Given the description of an element on the screen output the (x, y) to click on. 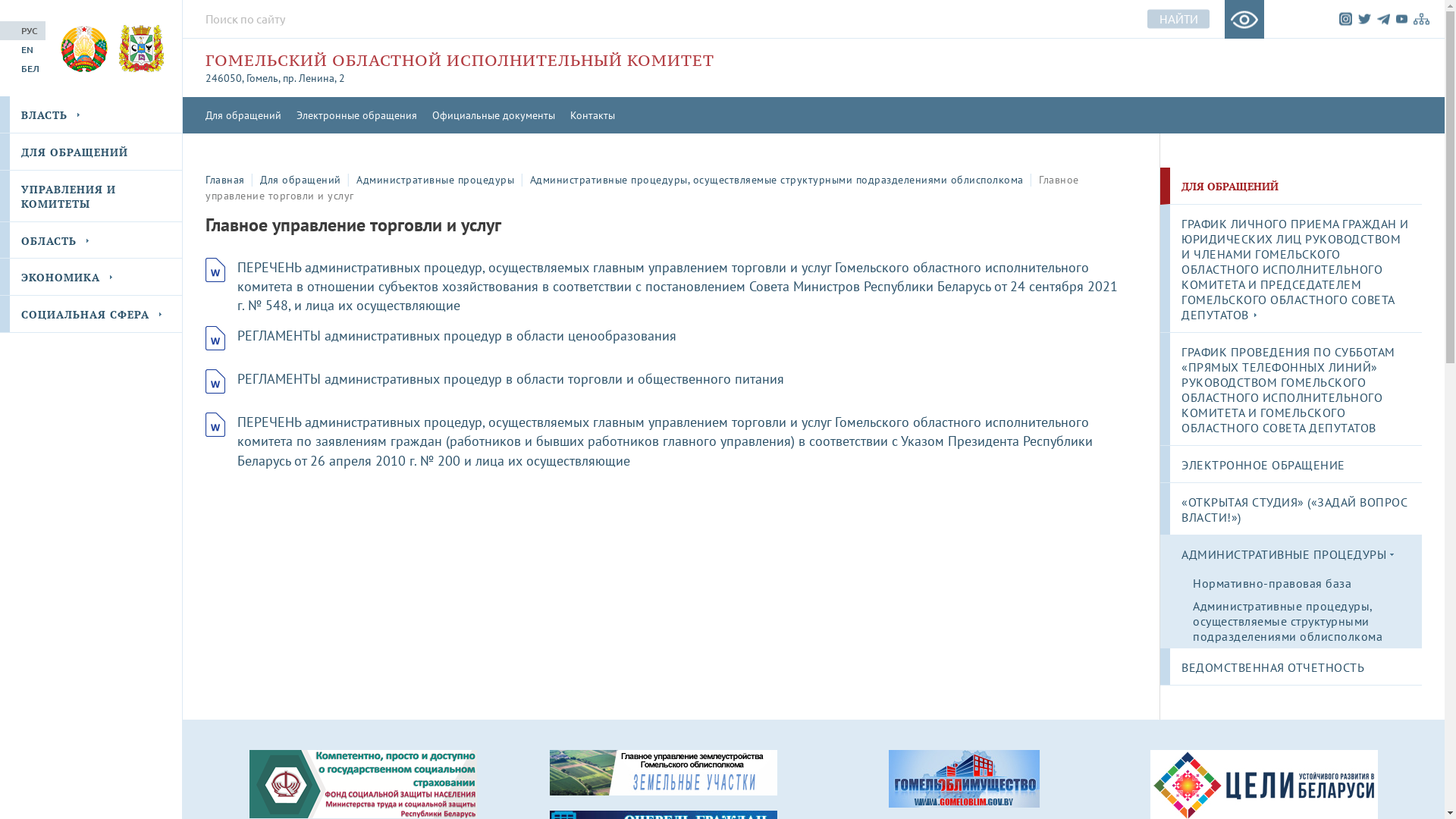
YouTube Element type: hover (1401, 19)
Instagram Element type: hover (1345, 18)
Twitter Element type: hover (1364, 18)
Telegram Element type: hover (1383, 18)
EN Element type: text (22, 49)
